Given the description of an element on the screen output the (x, y) to click on. 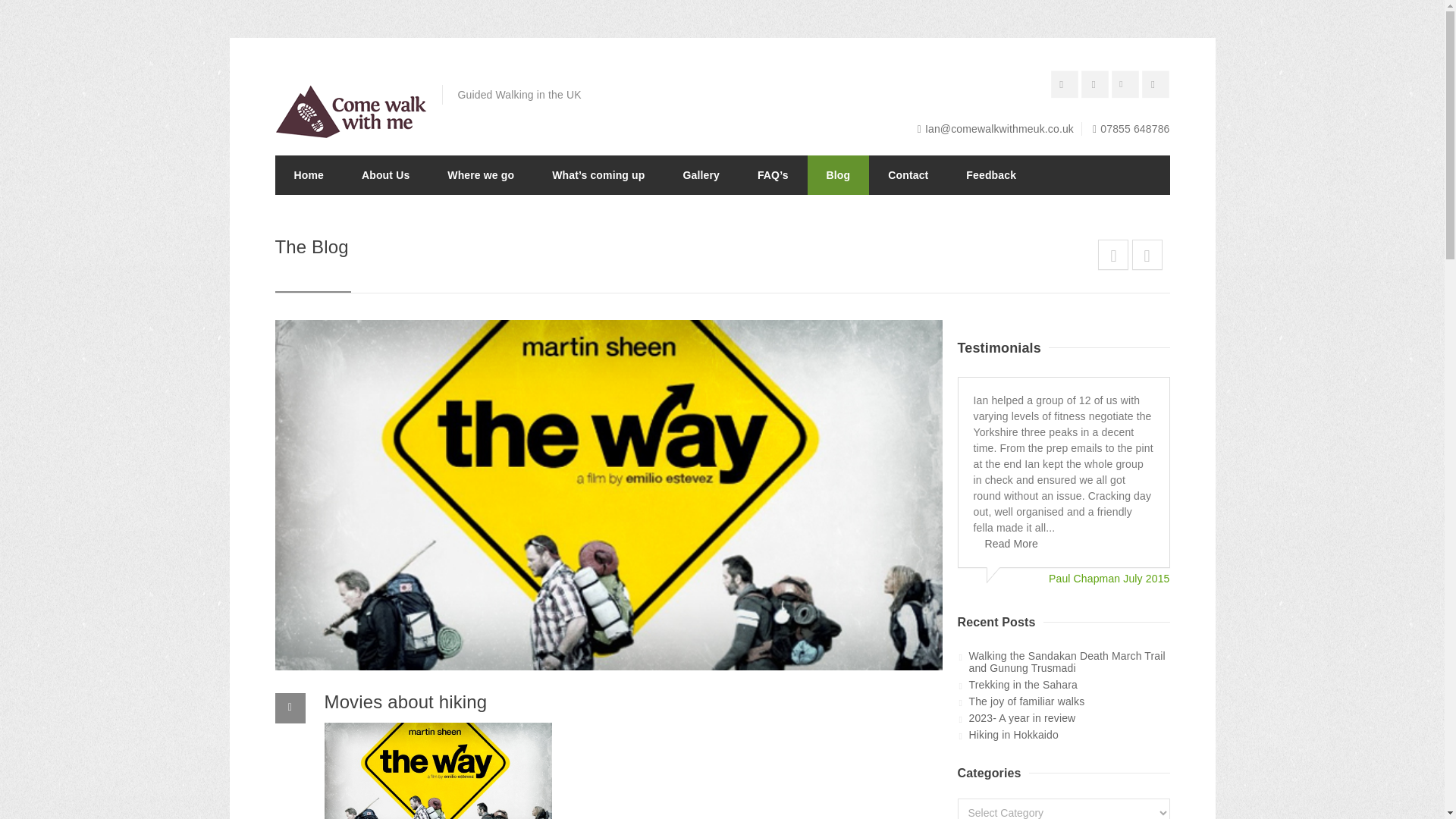
Facebook (1097, 86)
Feedback (1068, 543)
Gallery (700, 174)
Hiking in Hokkaido (1069, 734)
Twitter (1127, 86)
Pinterest (1067, 86)
Where we go (480, 174)
The joy of familiar walks (1069, 700)
Home (308, 174)
2023- A year in review (1069, 717)
Trekking in the Sahara (1069, 684)
Walking the Sandakan Death March Trail and Gunung Trusmadi (1069, 661)
Read More (1068, 543)
Feedback (991, 174)
Movies about hiking (405, 701)
